Given the description of an element on the screen output the (x, y) to click on. 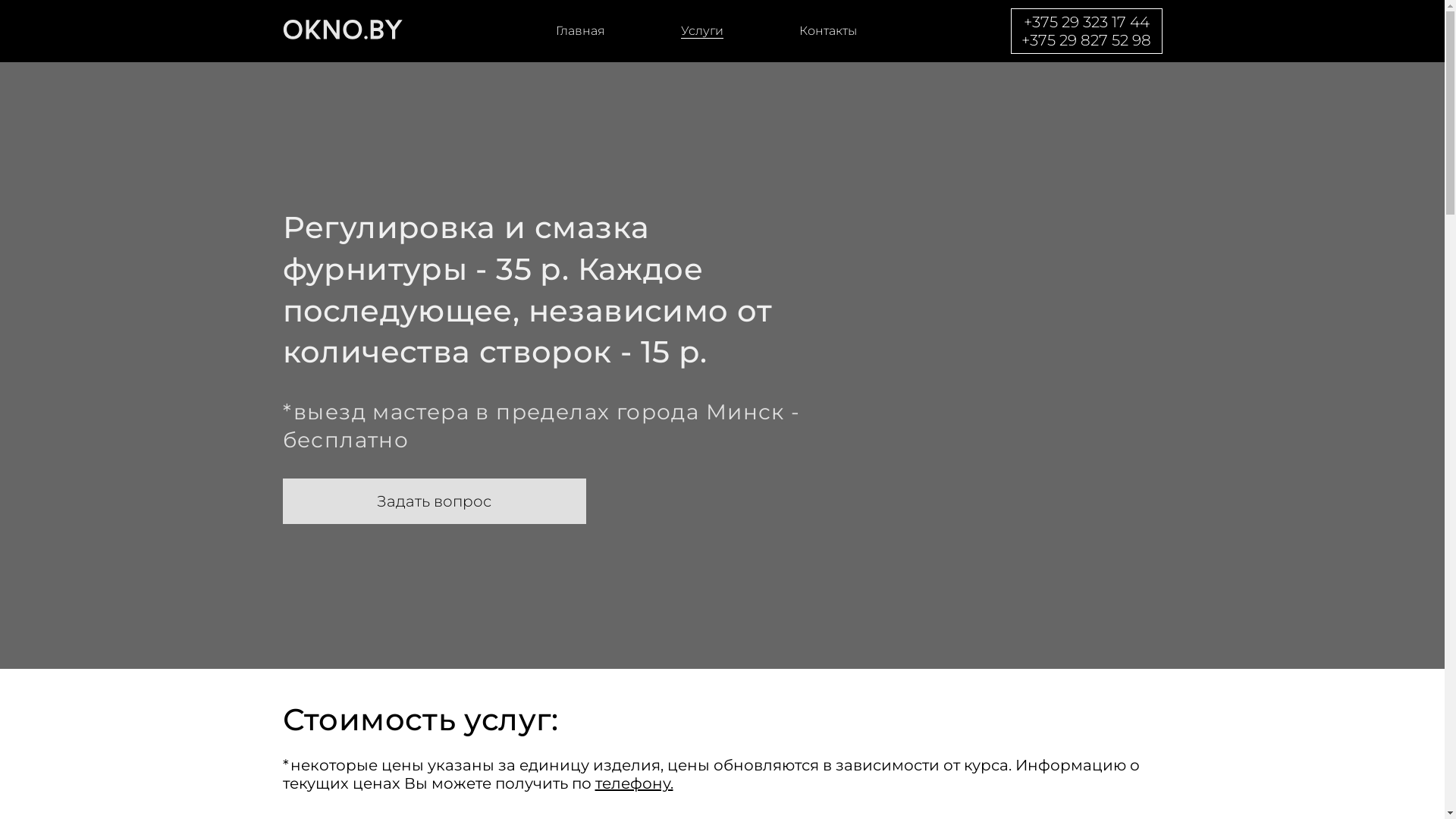
+375 29 827 52 98 Element type: text (1086, 40)
+375 29 323 17 44 Element type: text (1086, 21)
